Given the description of an element on the screen output the (x, y) to click on. 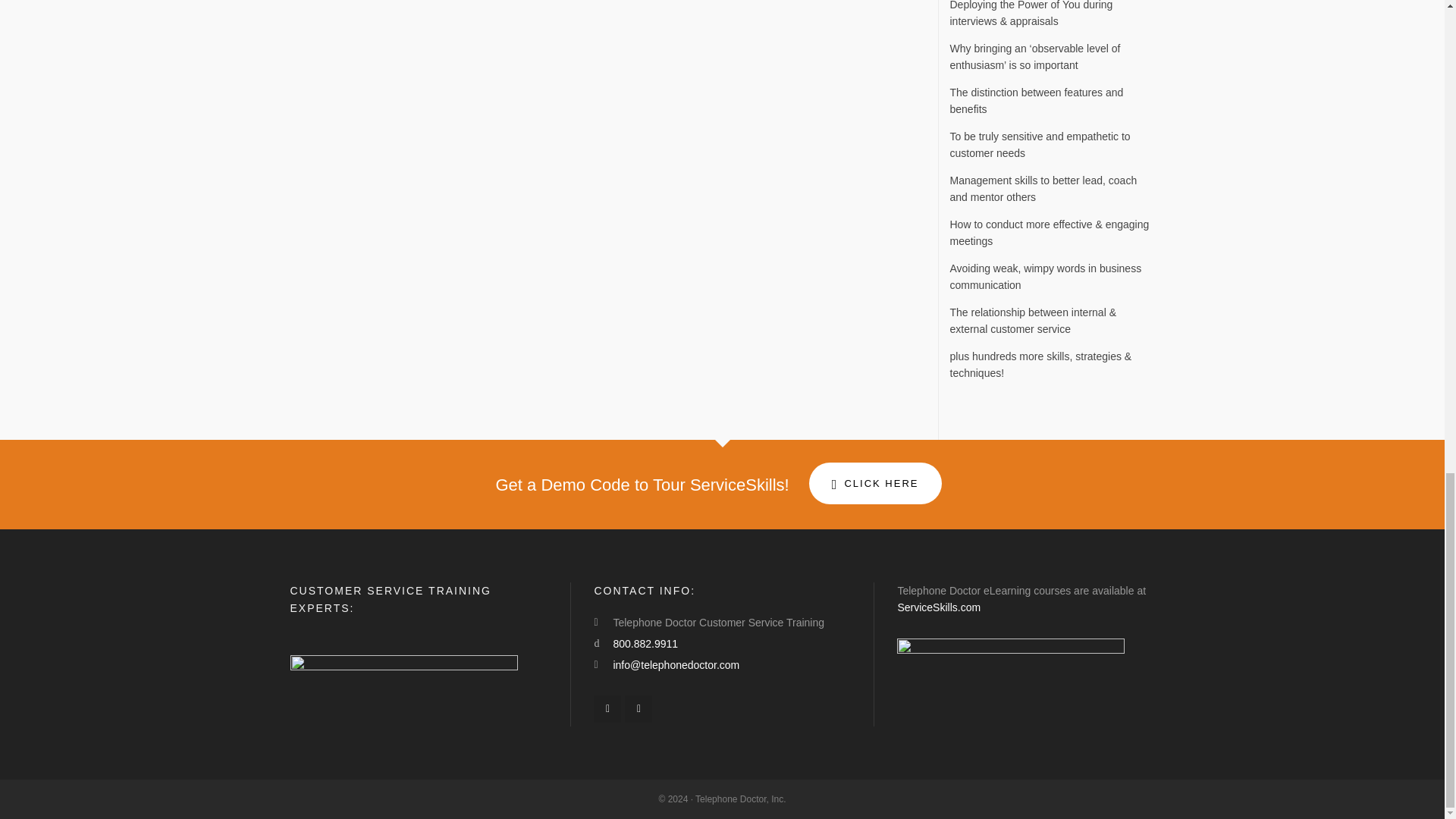
CLICK HERE (875, 483)
ServiceSkills.com (937, 607)
800.882.9911 (645, 644)
